Given the description of an element on the screen output the (x, y) to click on. 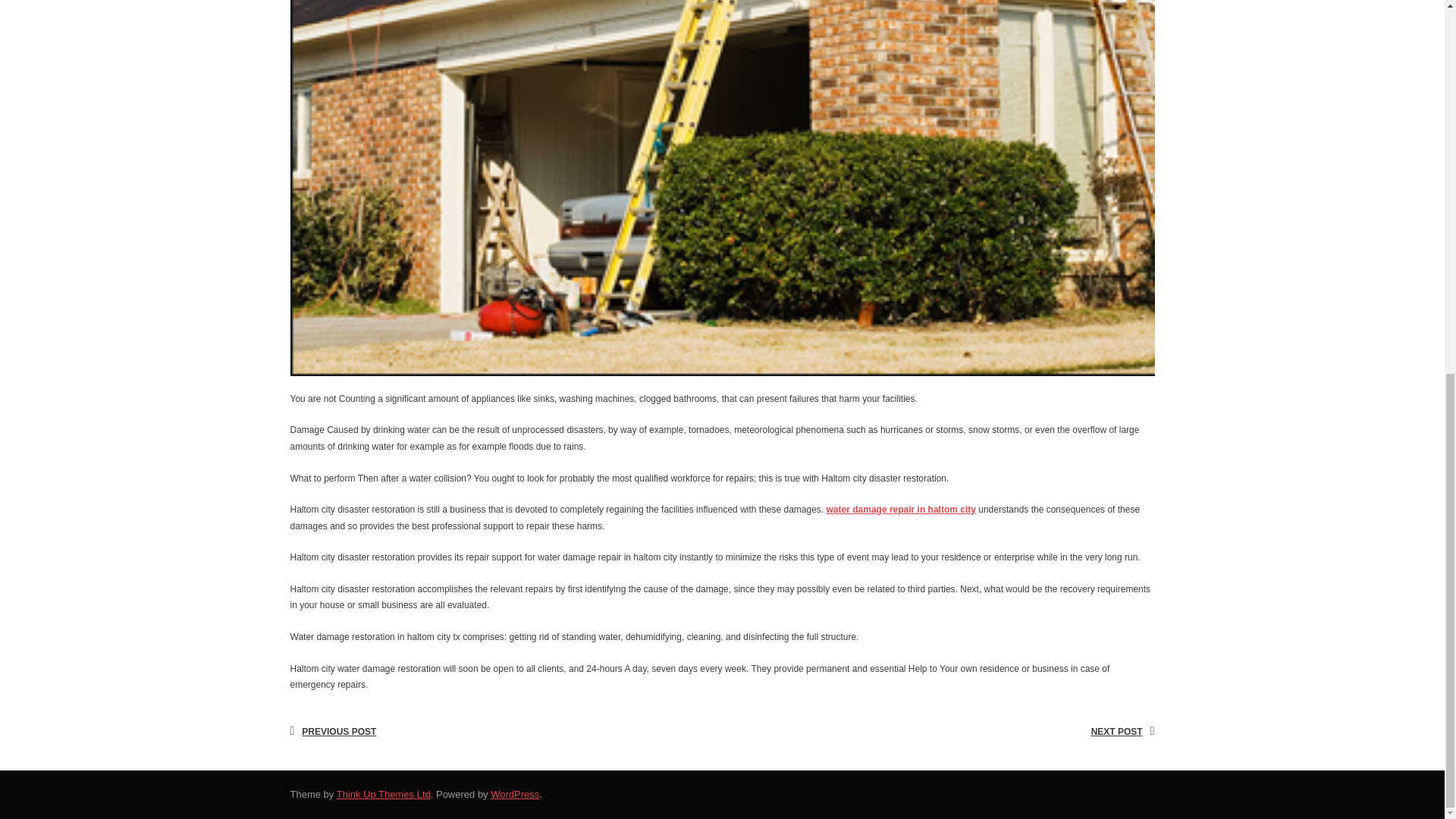
Think Up Themes Ltd (383, 794)
WordPress (514, 794)
water damage repair in haltom city (901, 509)
NEXT POST (1118, 732)
PREVIOUS POST (336, 732)
